Given the description of an element on the screen output the (x, y) to click on. 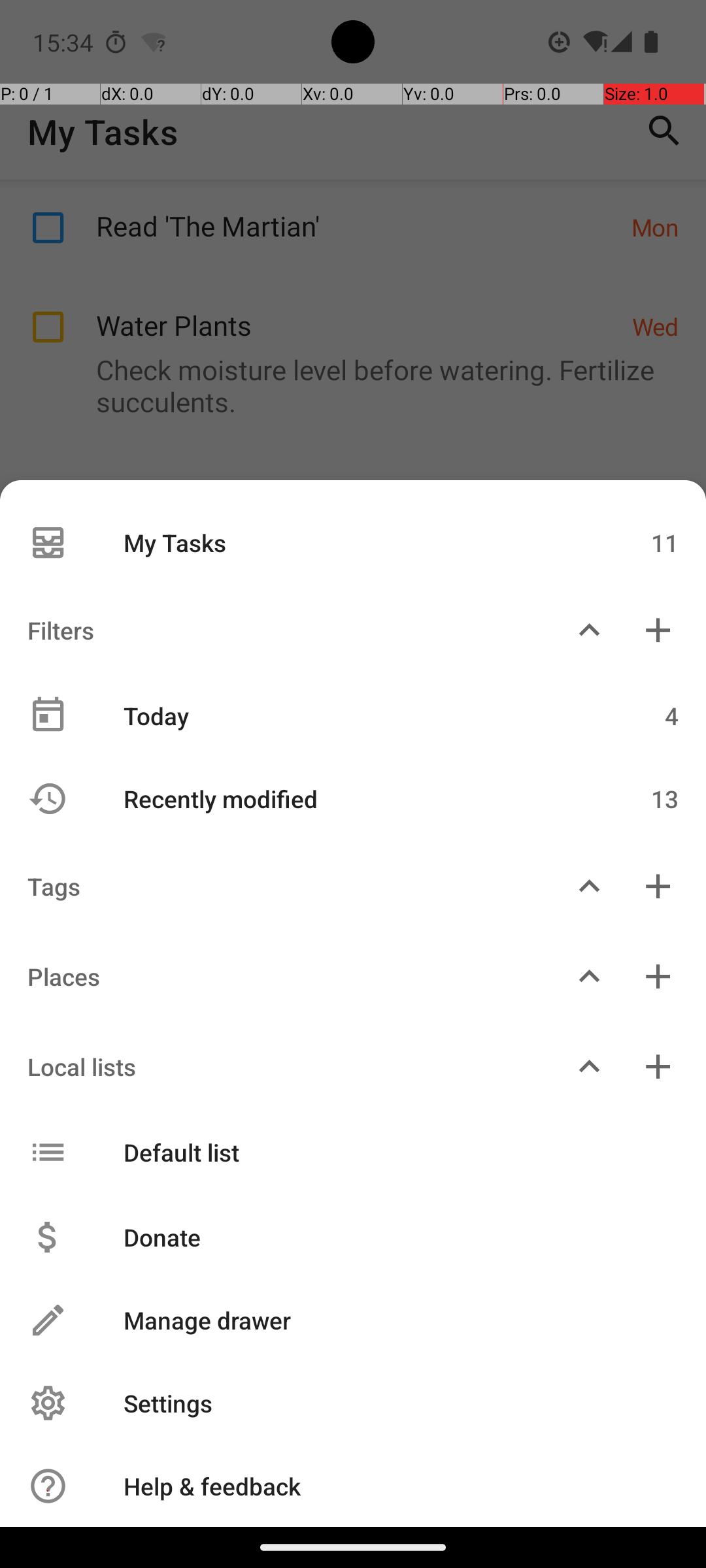
Filters Element type: android.widget.TextView (277, 630)
Recently modified Element type: android.widget.CheckedTextView (344, 798)
Places Element type: android.widget.TextView (277, 976)
Manage drawer Element type: android.widget.TextView (387, 1319)
